Given the description of an element on the screen output the (x, y) to click on. 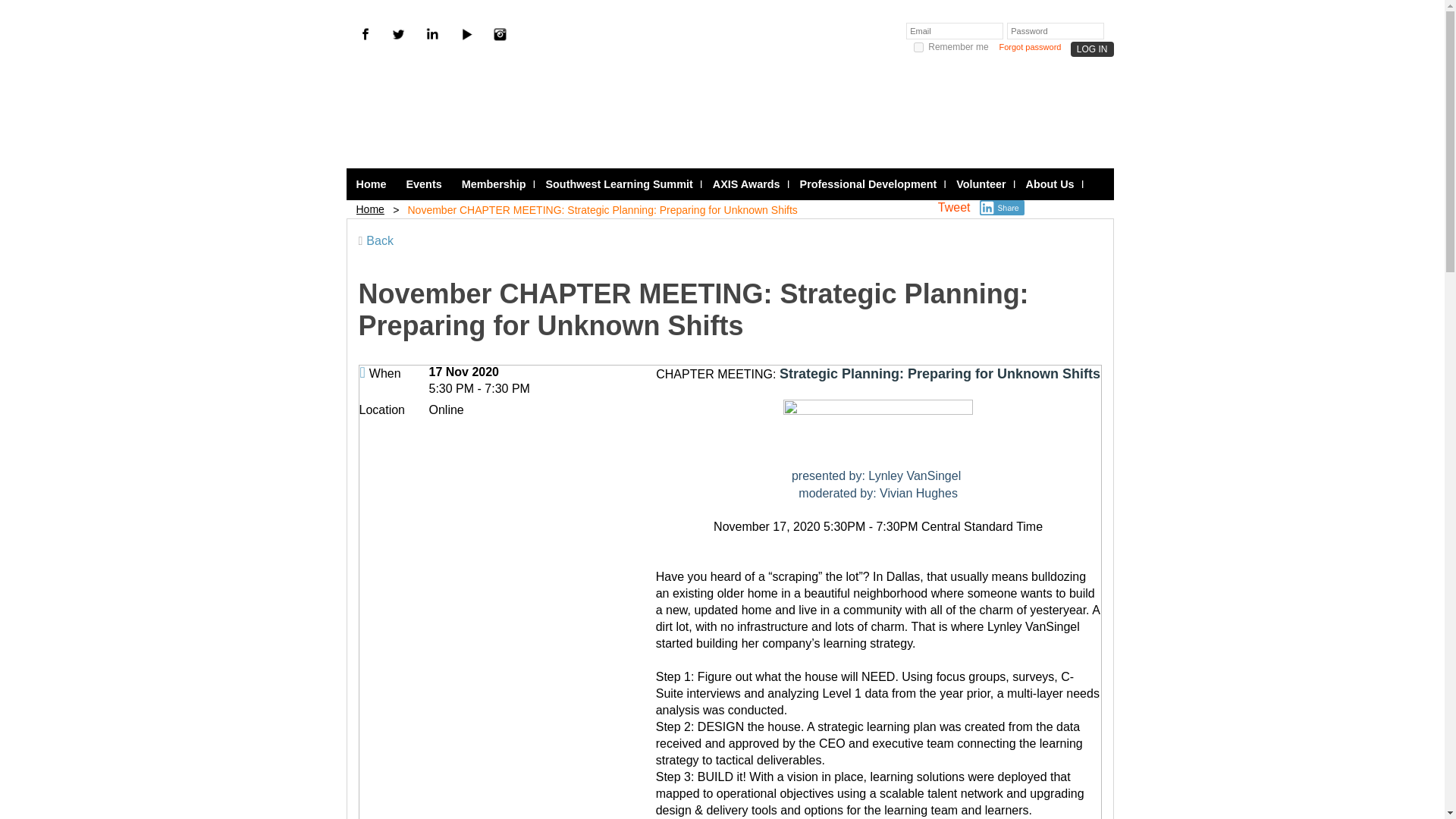
Professional Development (868, 183)
on (918, 47)
Home (371, 183)
Events (423, 183)
Facebook (364, 33)
Events (423, 183)
LinkedIn (432, 33)
Southwest Learning Summit (618, 183)
Forgot password (1029, 46)
Instagram (499, 33)
